Given the description of an element on the screen output the (x, y) to click on. 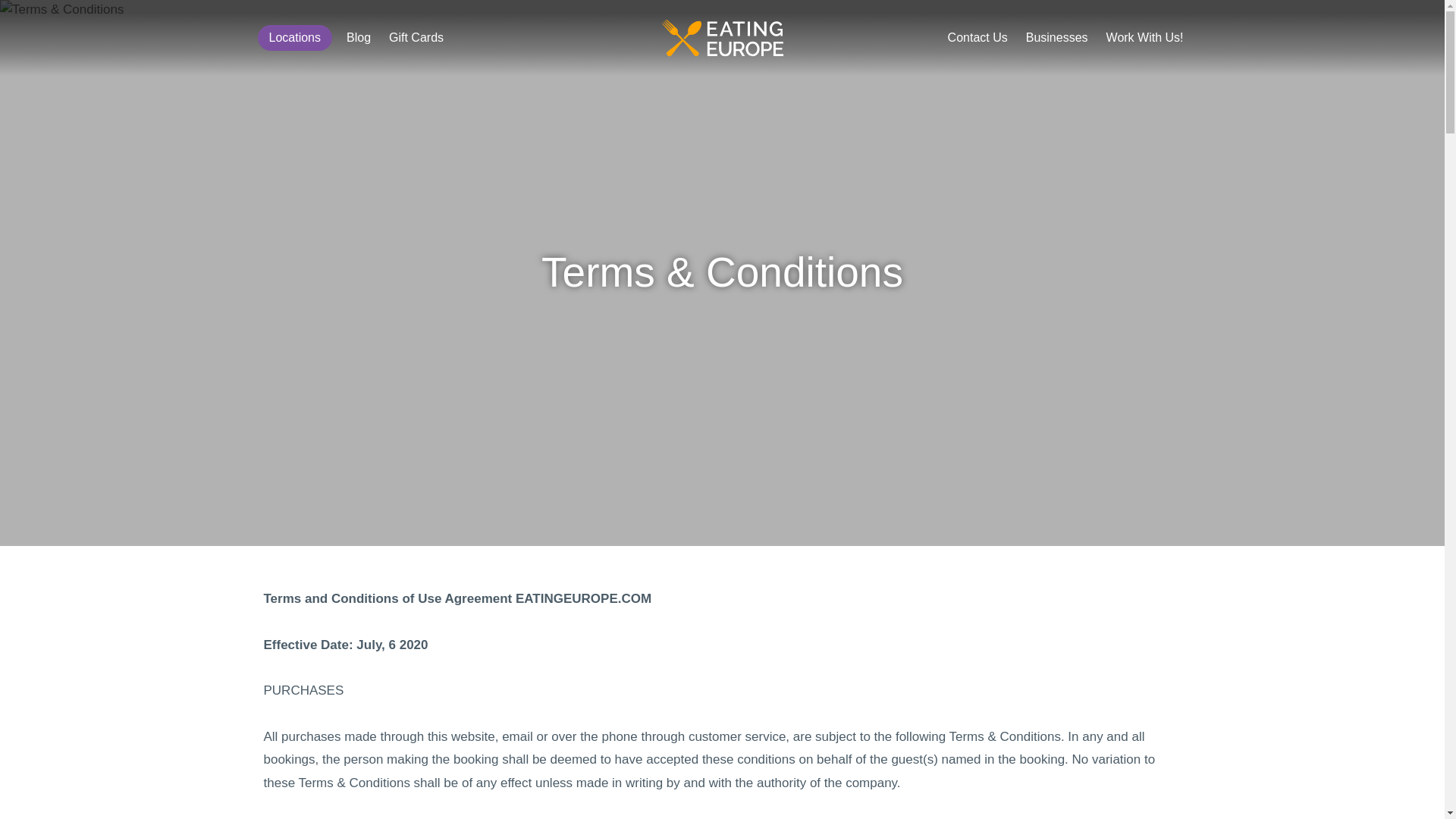
Locations (295, 38)
